Given the description of an element on the screen output the (x, y) to click on. 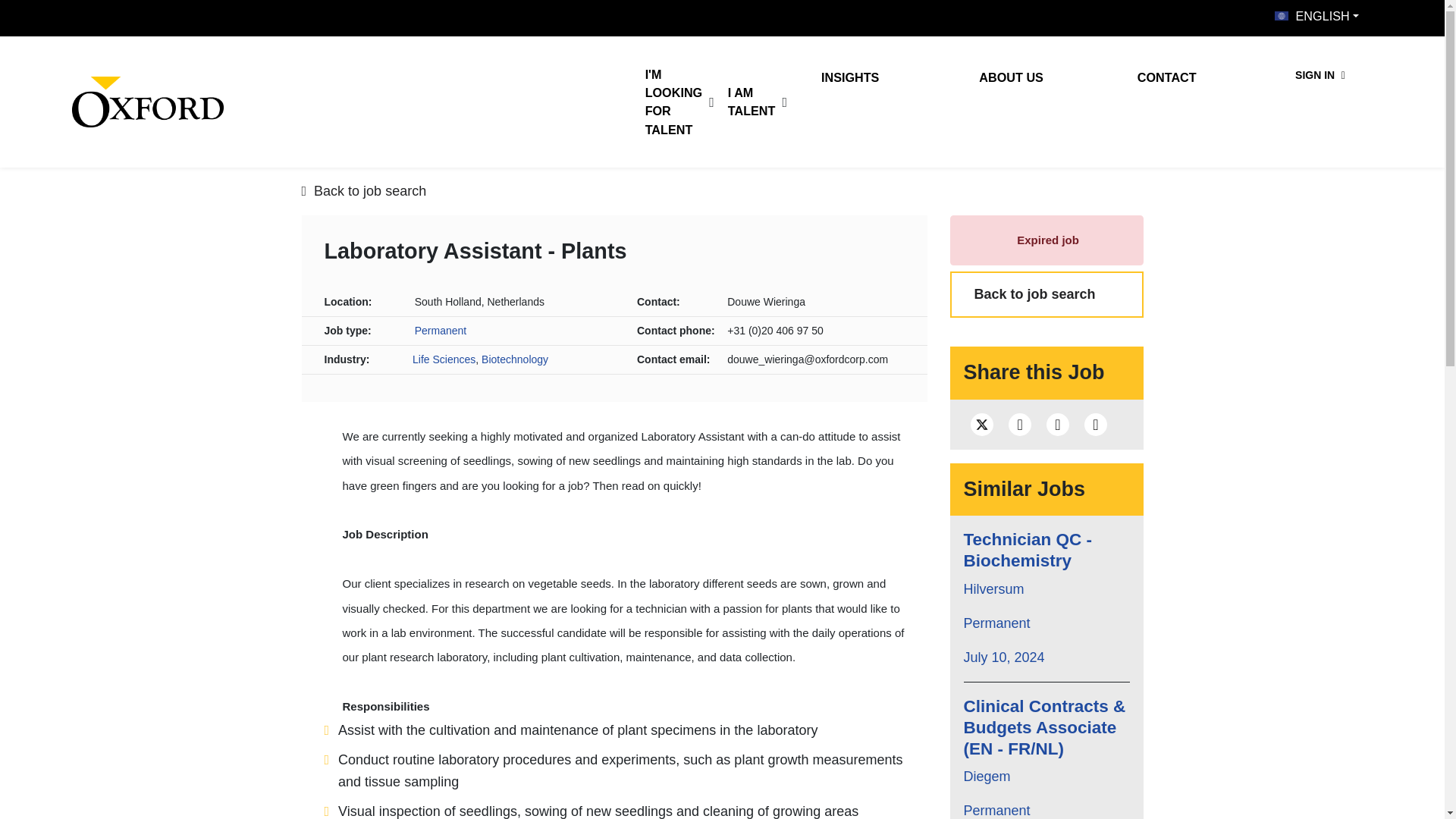
SIGN IN (1320, 75)
CONTACT (1189, 77)
ENGLISH (1316, 15)
ABOUT US (1030, 77)
Go to the Homepage (147, 101)
INSIGHTS (872, 77)
